Given the description of an element on the screen output the (x, y) to click on. 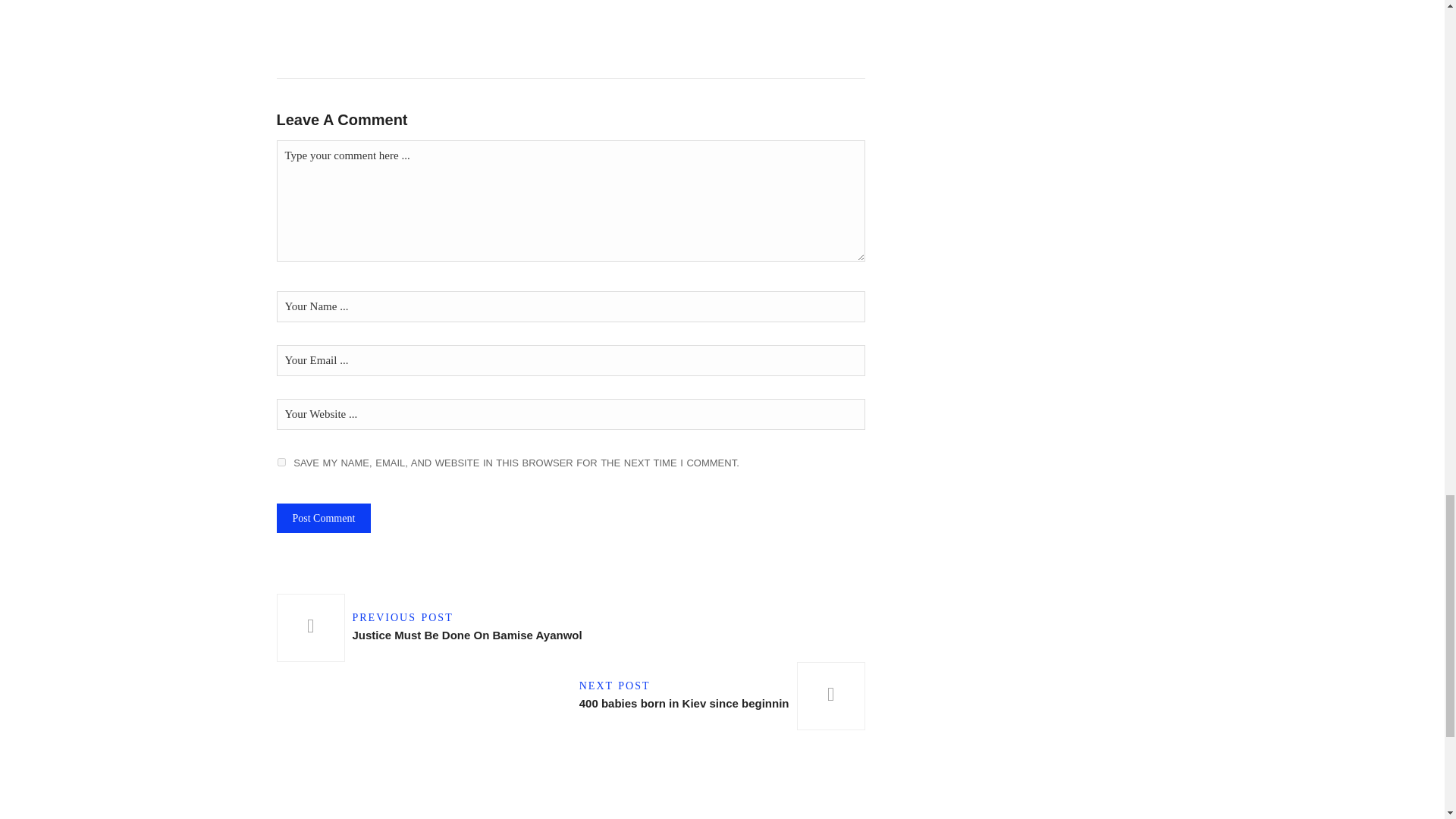
Post Comment (718, 695)
Post Comment (323, 518)
yes (432, 627)
